Given the description of an element on the screen output the (x, y) to click on. 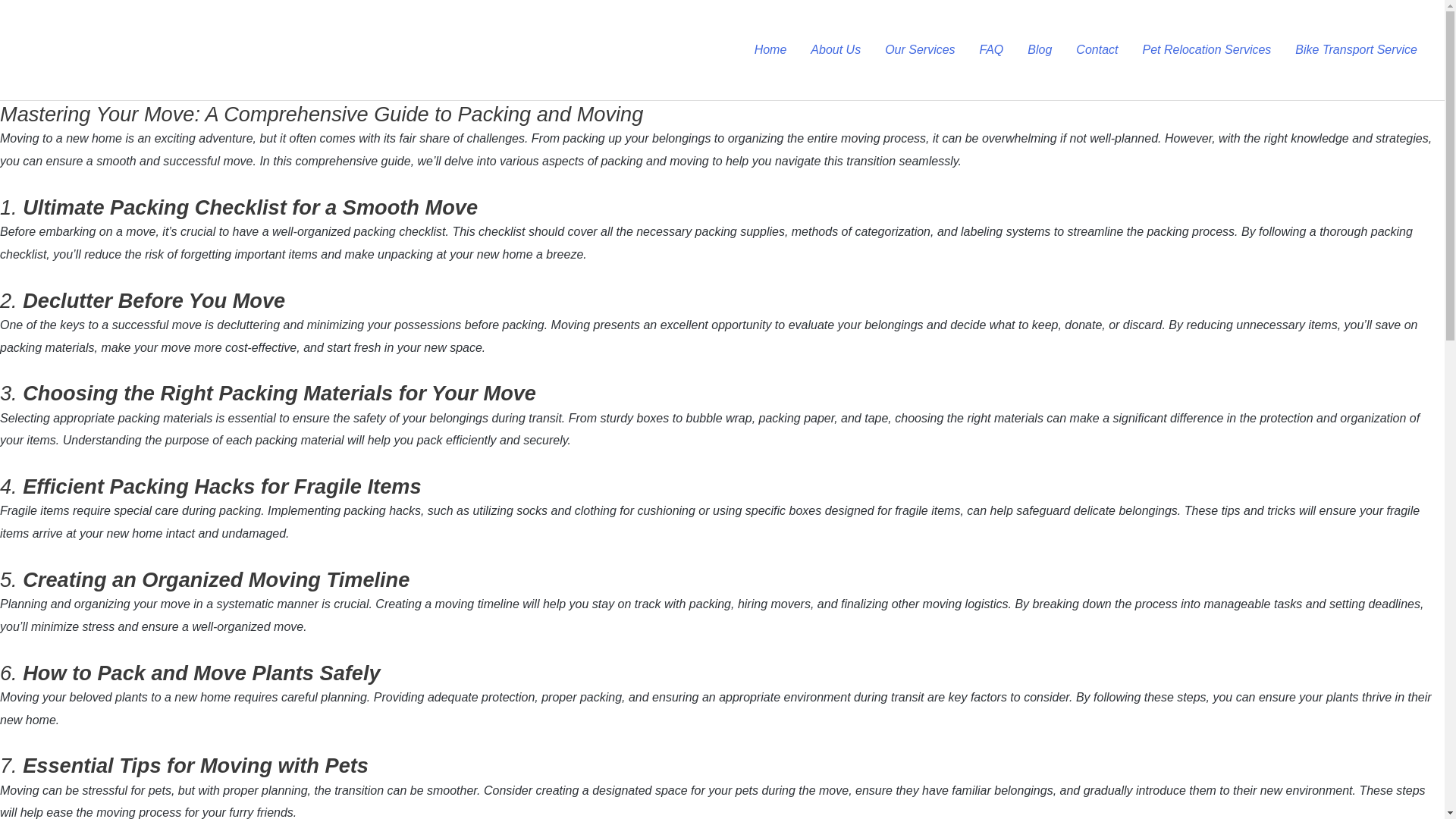
FAQ (992, 49)
Blog (1039, 49)
Contact (1096, 49)
About Us (834, 49)
Bike Transport Service (1355, 49)
Home (770, 49)
Pet Relocation Services (1205, 49)
Our Services (919, 49)
